Given the description of an element on the screen output the (x, y) to click on. 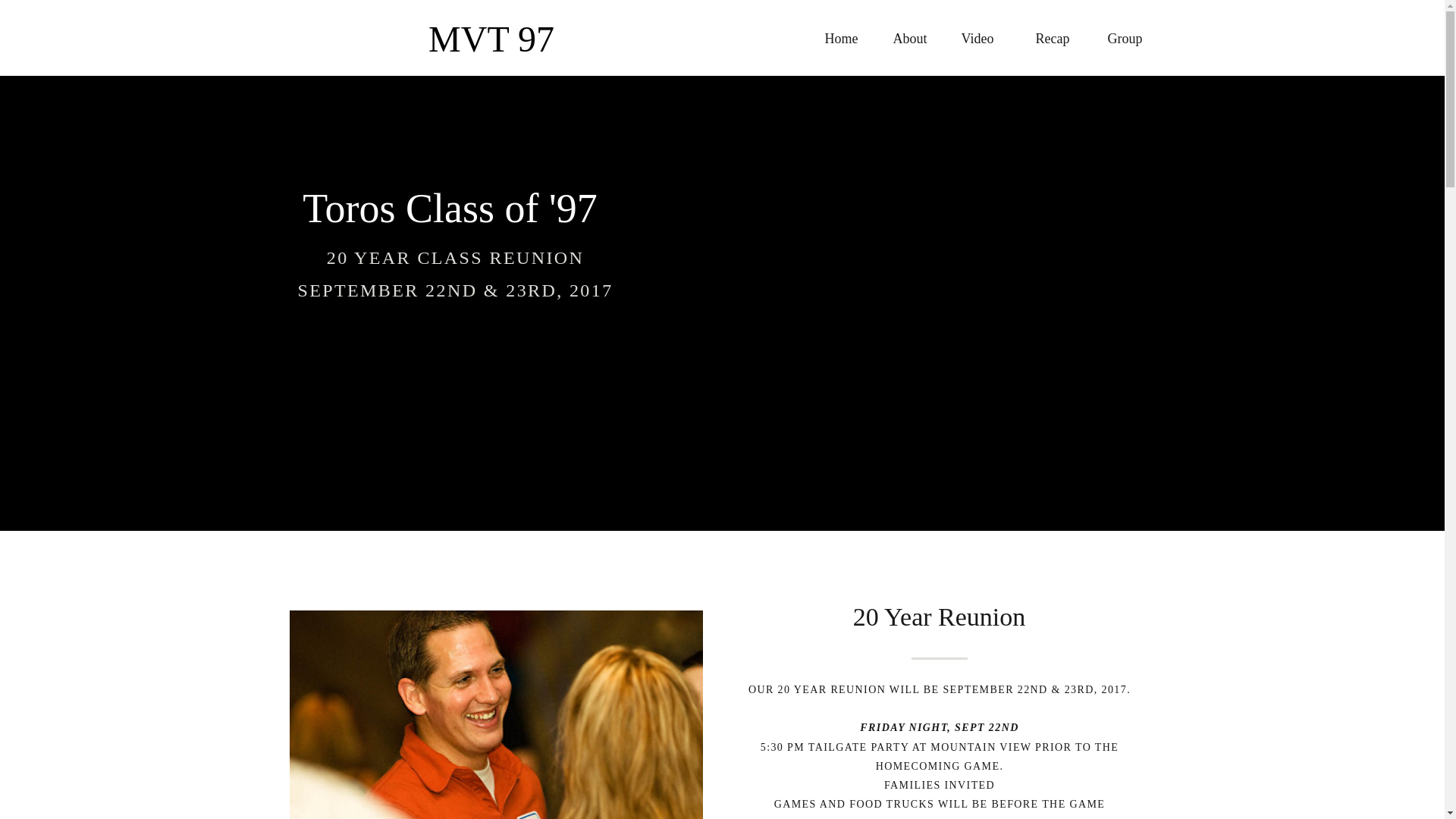
Group (1126, 35)
Video (985, 35)
Recap (1059, 35)
About (913, 35)
Home (844, 35)
